Given the description of an element on the screen output the (x, y) to click on. 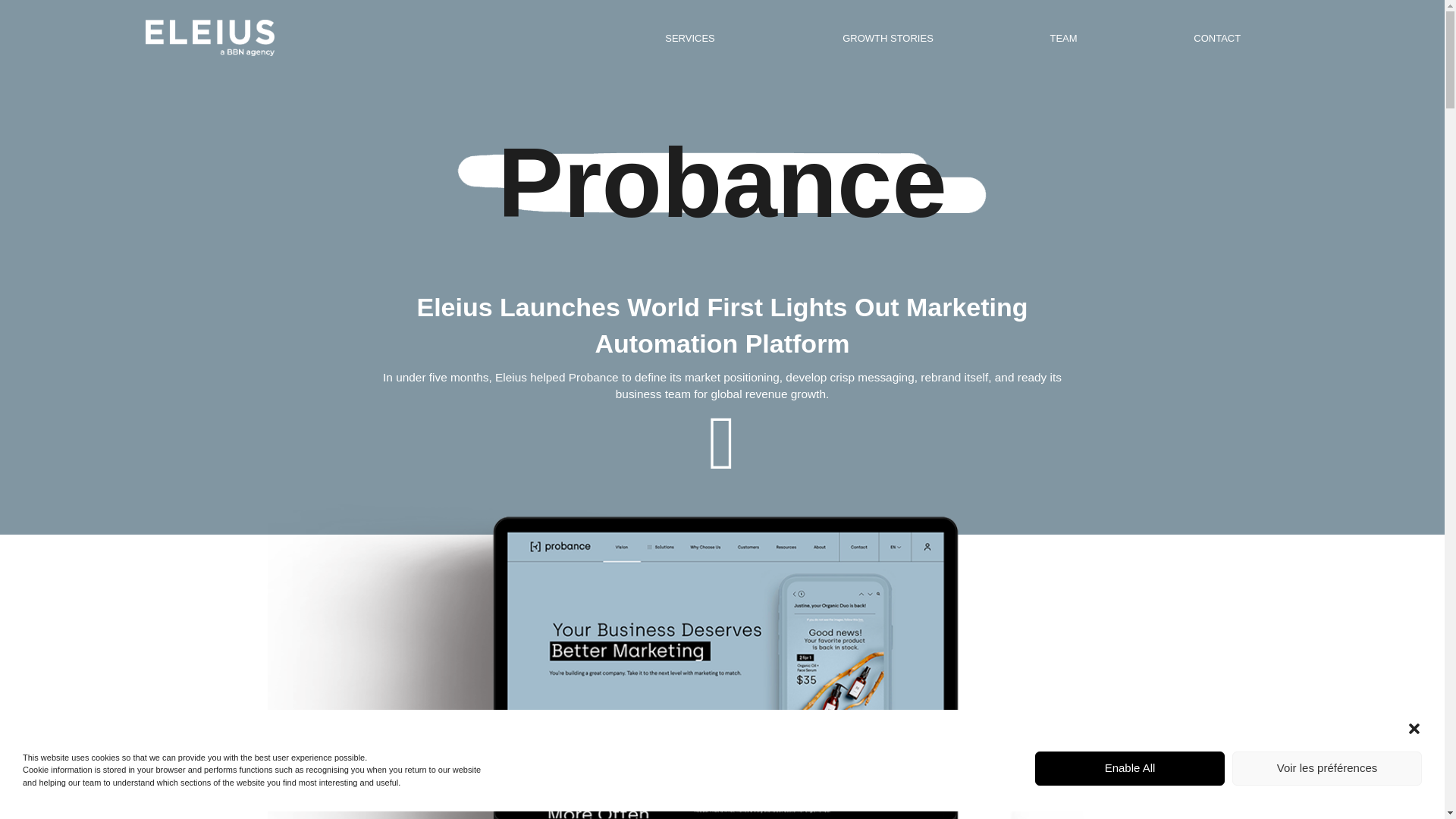
Enable All (1129, 767)
SERVICES (695, 38)
GROWTH STORIES (887, 38)
CONTACT (1216, 38)
TEAM (1063, 38)
